Given the description of an element on the screen output the (x, y) to click on. 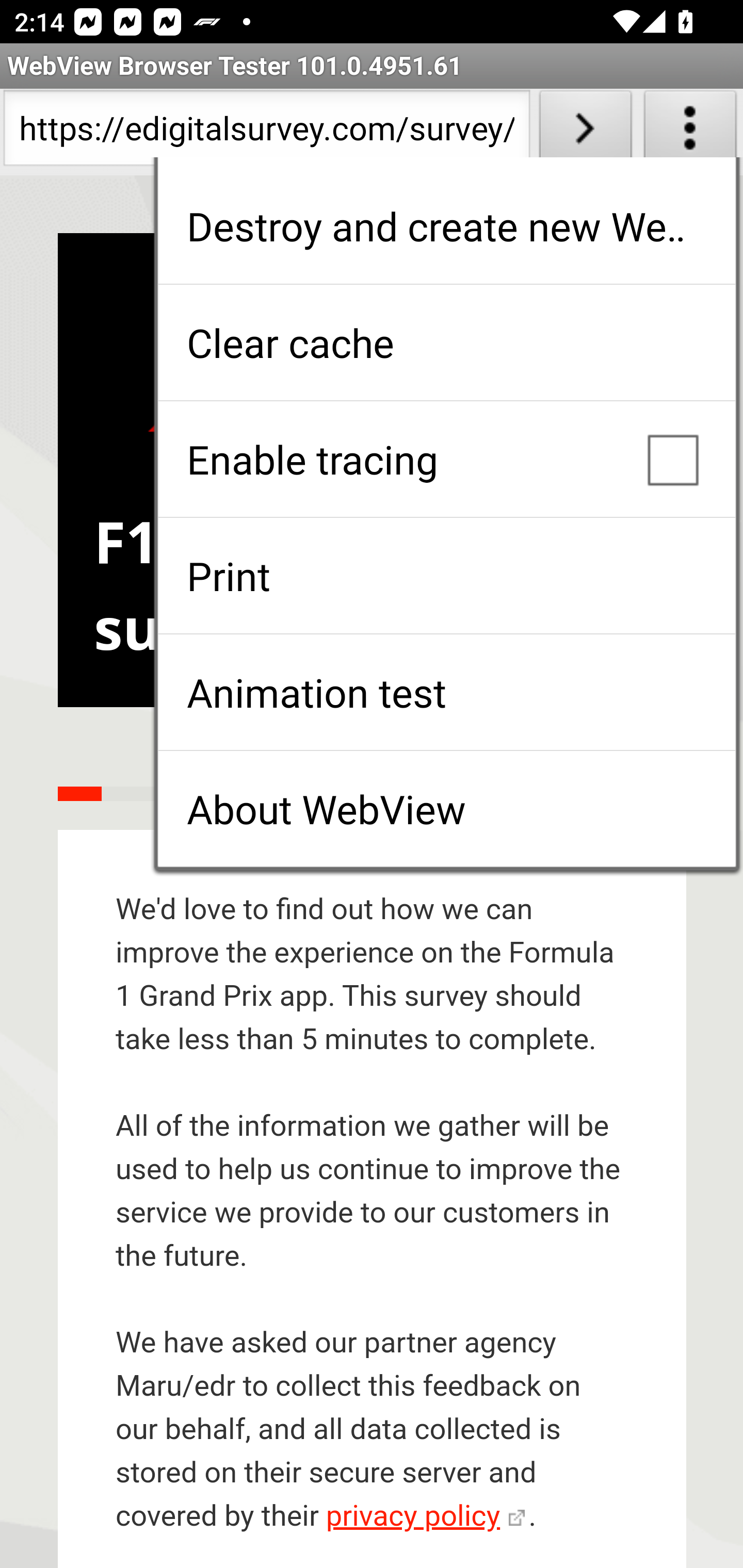
Destroy and create new WebView (446, 225)
Clear cache (446, 342)
Enable tracing (446, 459)
Print (446, 575)
Animation test (446, 692)
About WebView (446, 809)
